Given the description of an element on the screen output the (x, y) to click on. 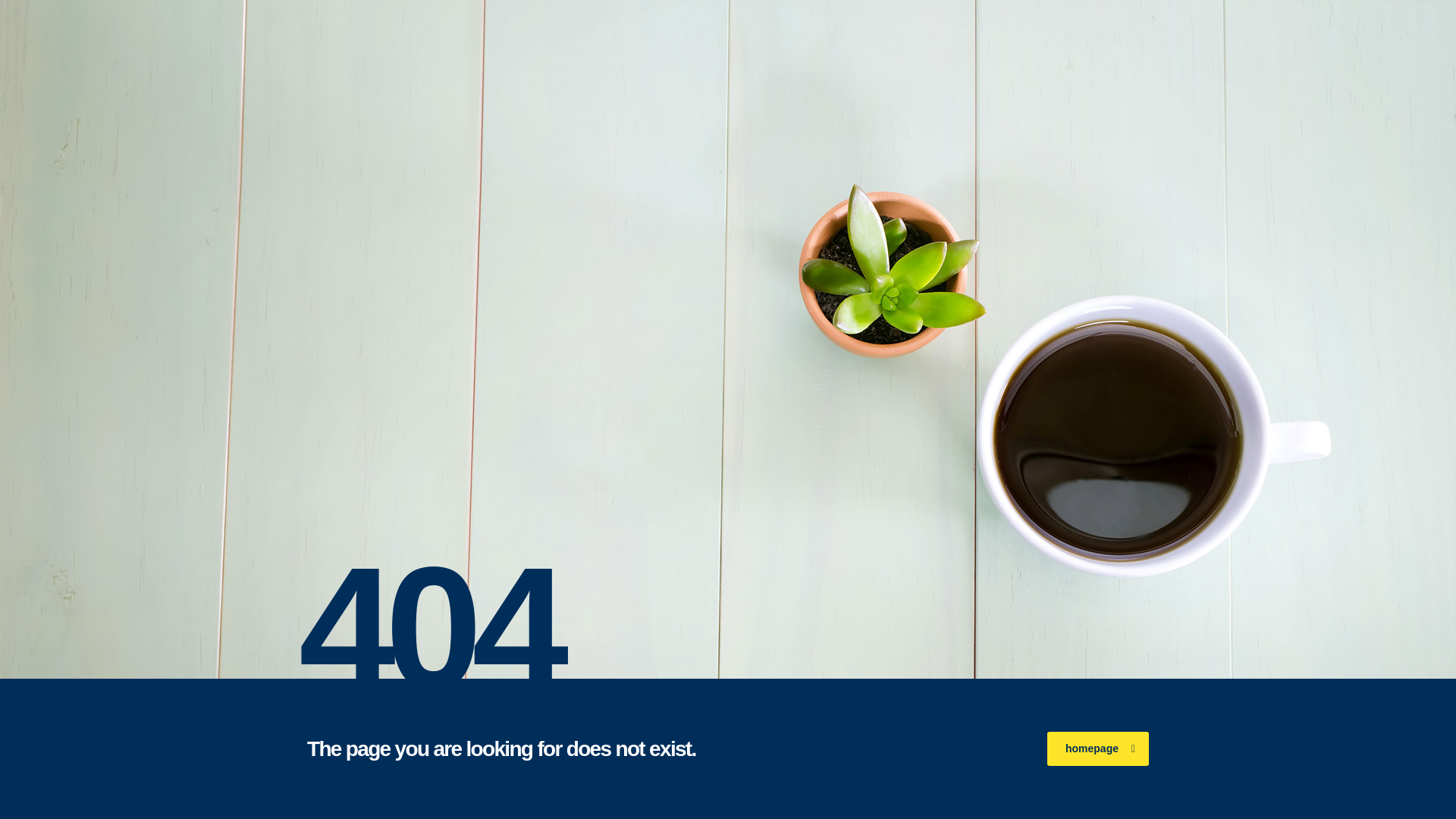
homepage (1097, 748)
